Given the description of an element on the screen output the (x, y) to click on. 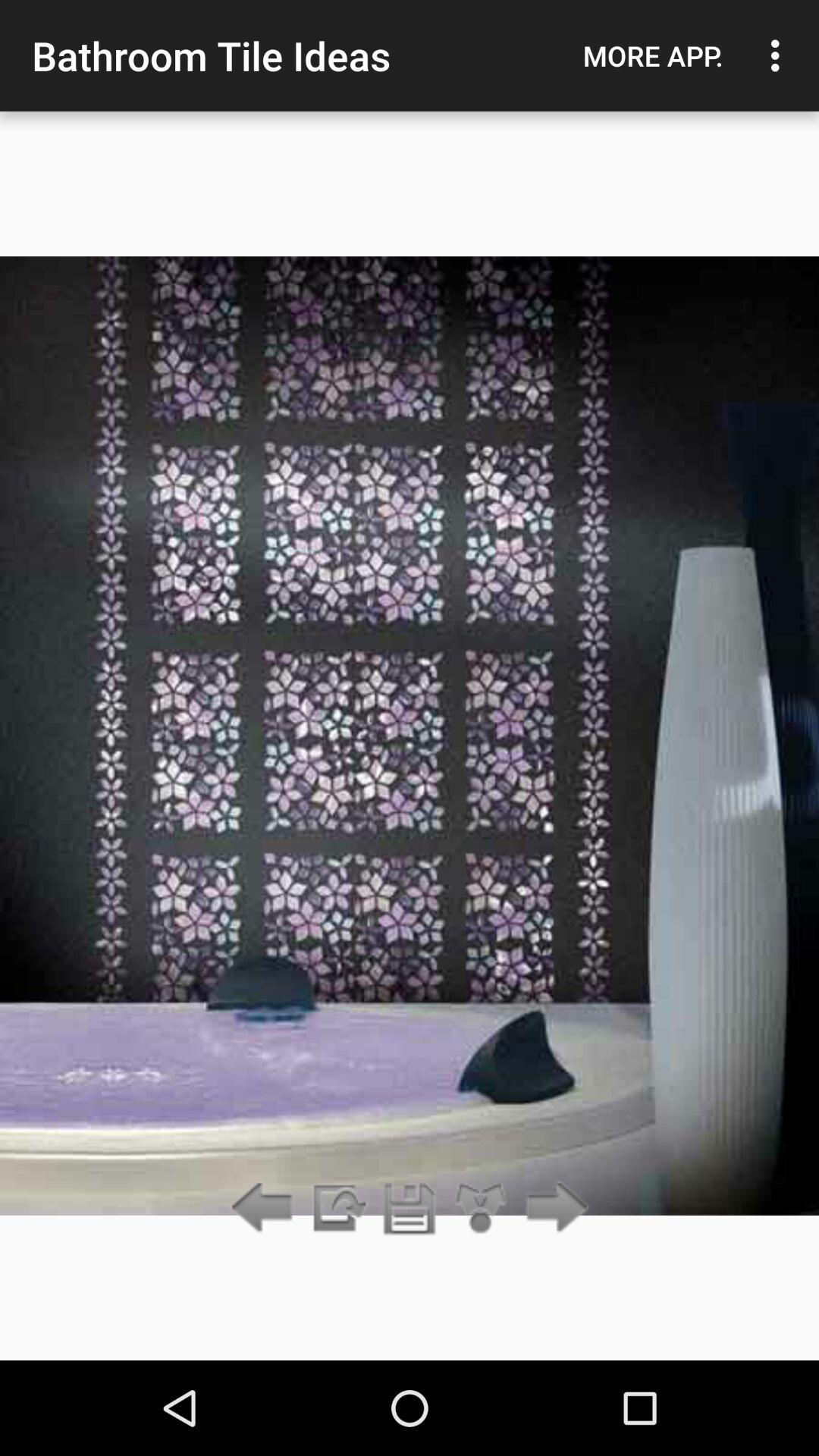
he can activate the simple voice command (409, 1208)
